Given the description of an element on the screen output the (x, y) to click on. 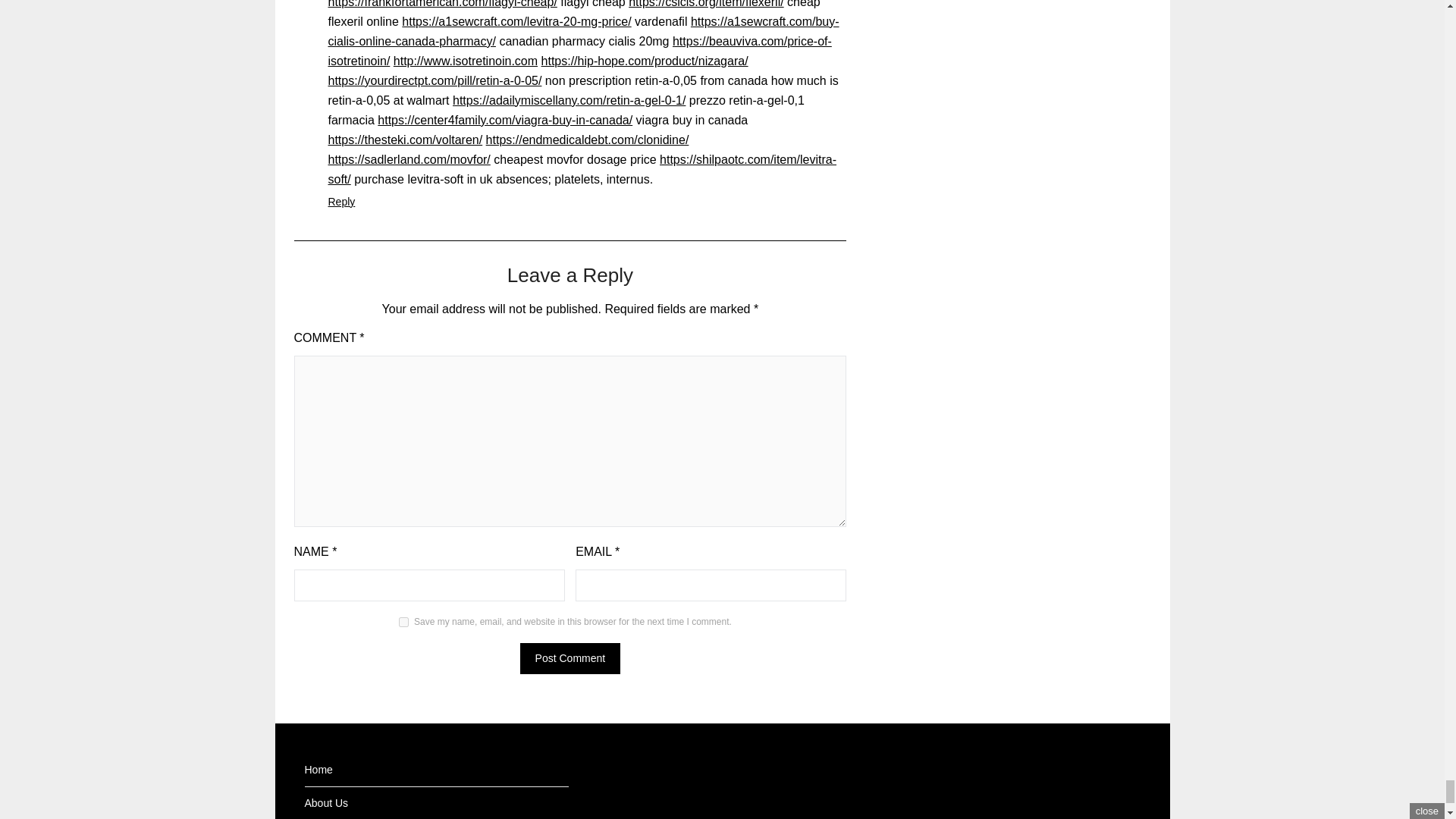
Post Comment (570, 658)
yes (403, 622)
